Given the description of an element on the screen output the (x, y) to click on. 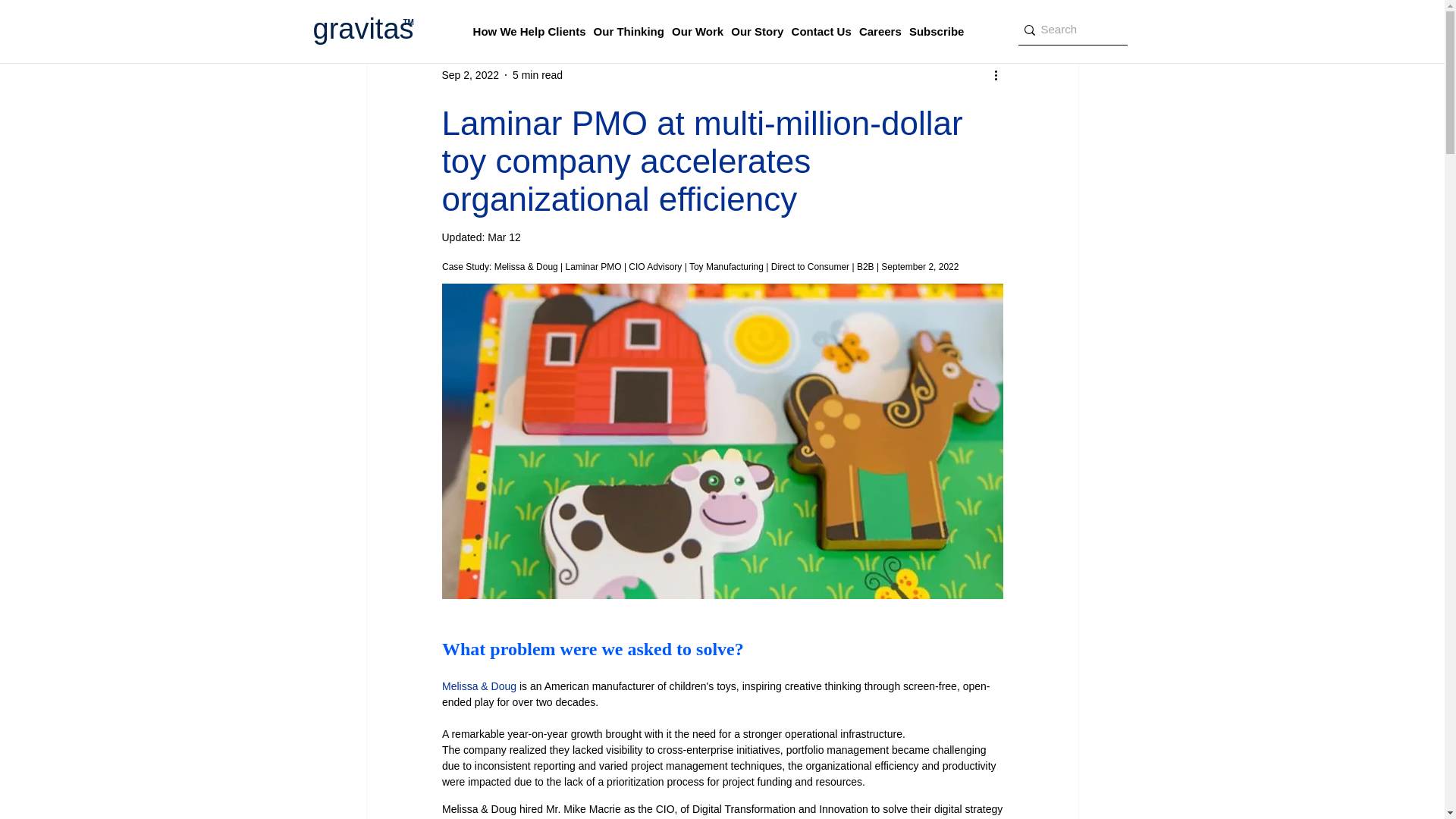
gravitas (363, 29)
Mar 12 (504, 236)
Subscribe (936, 32)
5 min read (537, 73)
How We Help Clients (529, 32)
Our Story (757, 32)
TM (408, 22)
Careers (880, 32)
Our Thinking (628, 32)
Our Work (697, 32)
Sep 2, 2022 (470, 73)
Contact Us (821, 32)
